Given the description of an element on the screen output the (x, y) to click on. 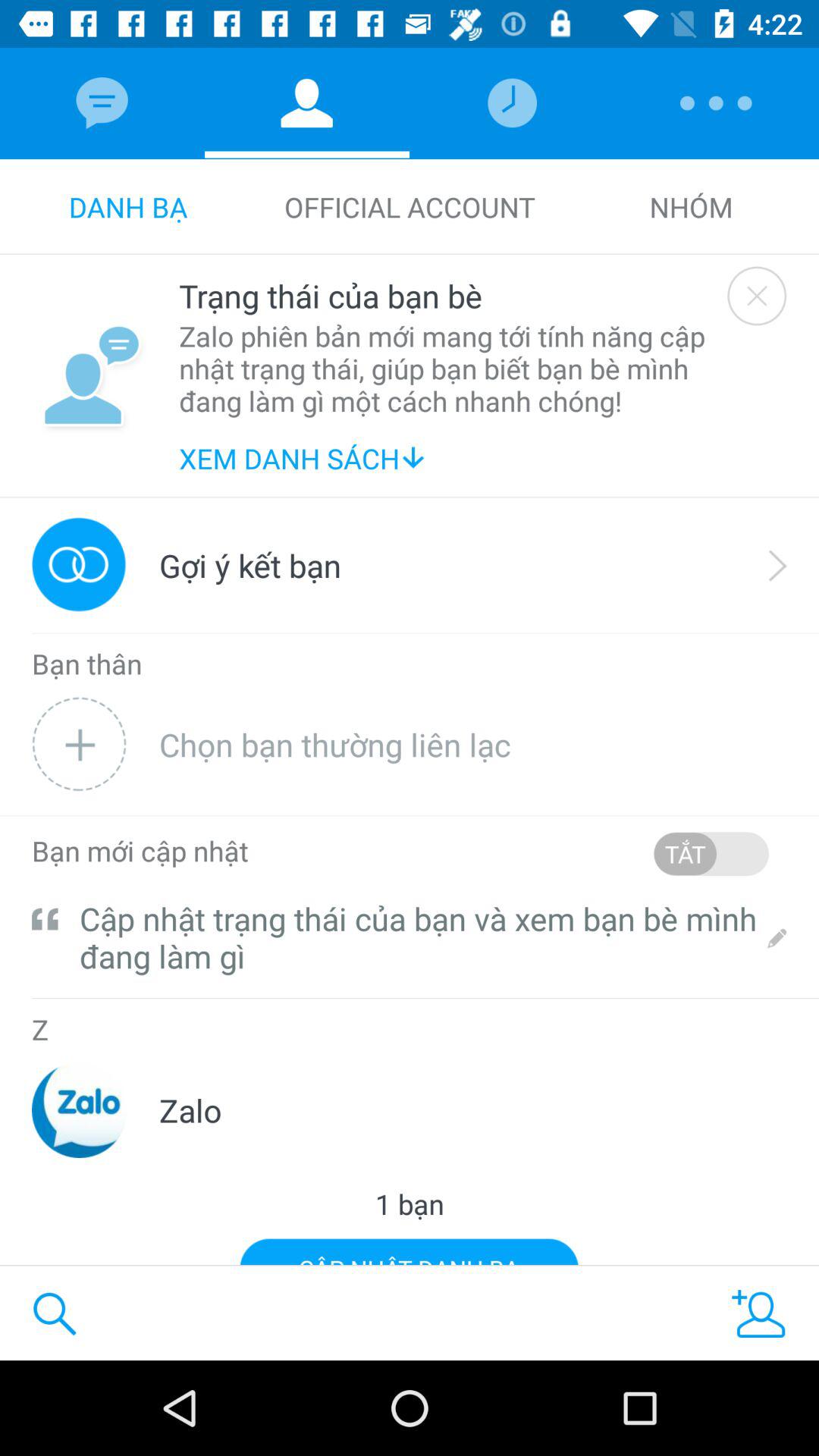
tap the z (39, 1030)
